Given the description of an element on the screen output the (x, y) to click on. 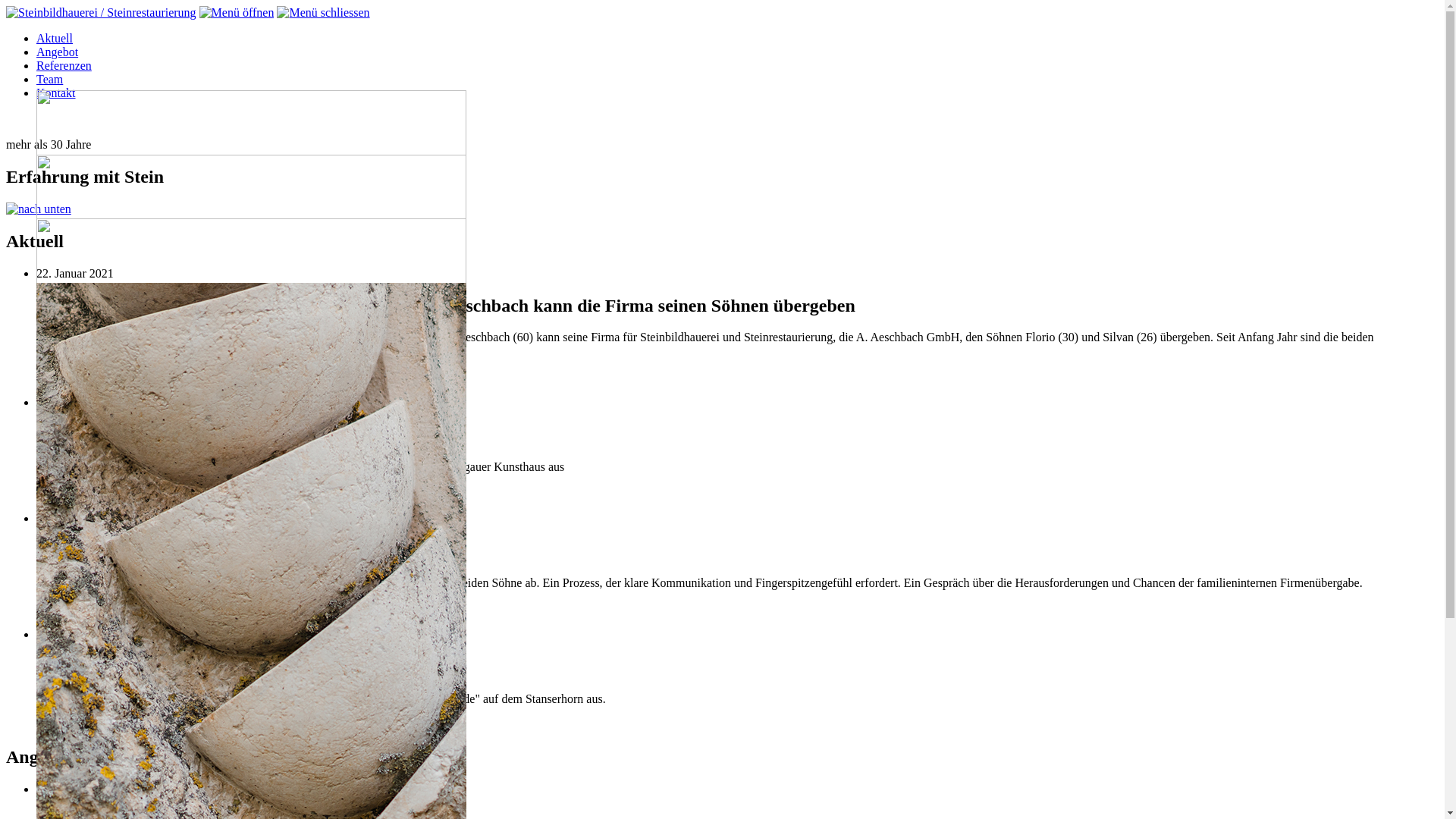
Team Element type: text (49, 78)
Bericht Kunst und Stein Element type: text (94, 608)
https://www.aargauerkunsthaus.ch/ausstellungen/663 Element type: text (165, 492)
Artikel Aargauer Zeitung Element type: text (97, 376)
Kontakt Element type: text (55, 92)
Aktuell Element type: text (54, 37)
Referenzen Element type: text (63, 65)
Angebot Element type: text (57, 51)
Skulptur Schieflage Element type: text (163, 724)
Skulptur Wolke Element type: text (74, 724)
